Given the description of an element on the screen output the (x, y) to click on. 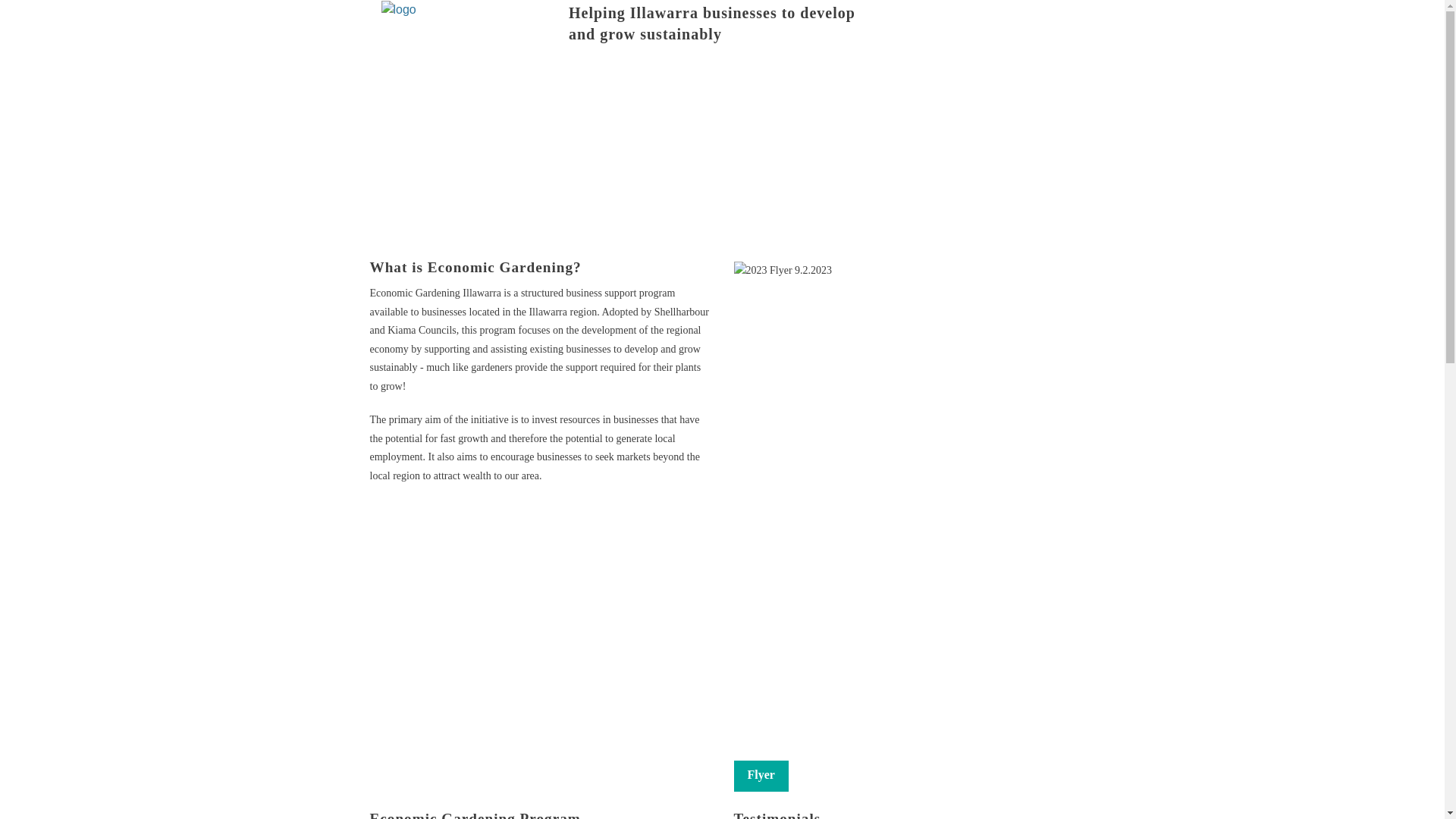
Contact Element type: text (784, 204)
Home Element type: text (577, 67)
Application Form Element type: text (836, 170)
Your Obligations Element type: text (700, 238)
Business Resources Element type: text (653, 204)
Getting Started Element type: text (600, 238)
The Economic Gardening Program Includes Element type: text (837, 136)
How will the Program help your Business? Element type: text (667, 170)
Economic Gardening Program Element type: text (636, 136)
Flyer Element type: text (761, 775)
Economic Gardening Element type: text (813, 101)
